Given the description of an element on the screen output the (x, y) to click on. 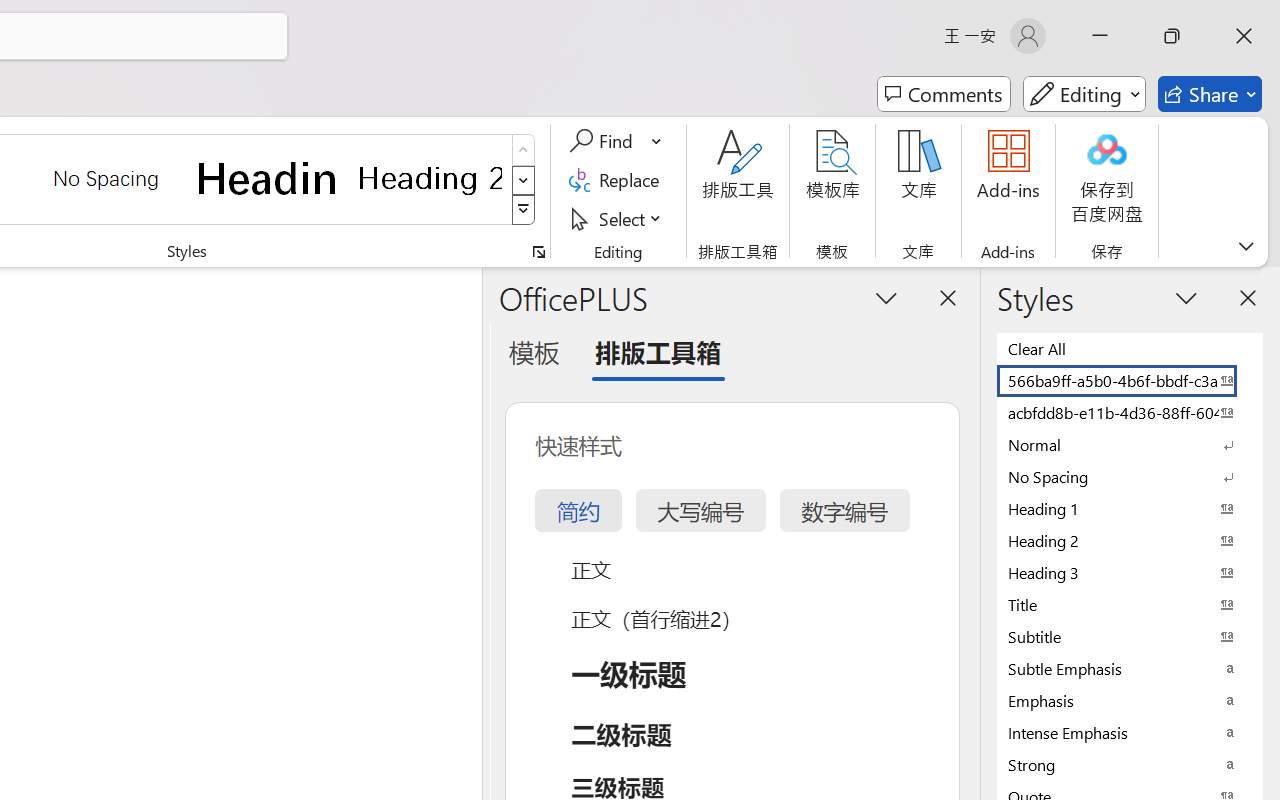
Styles (523, 209)
Select (618, 218)
